Given the description of an element on the screen output the (x, y) to click on. 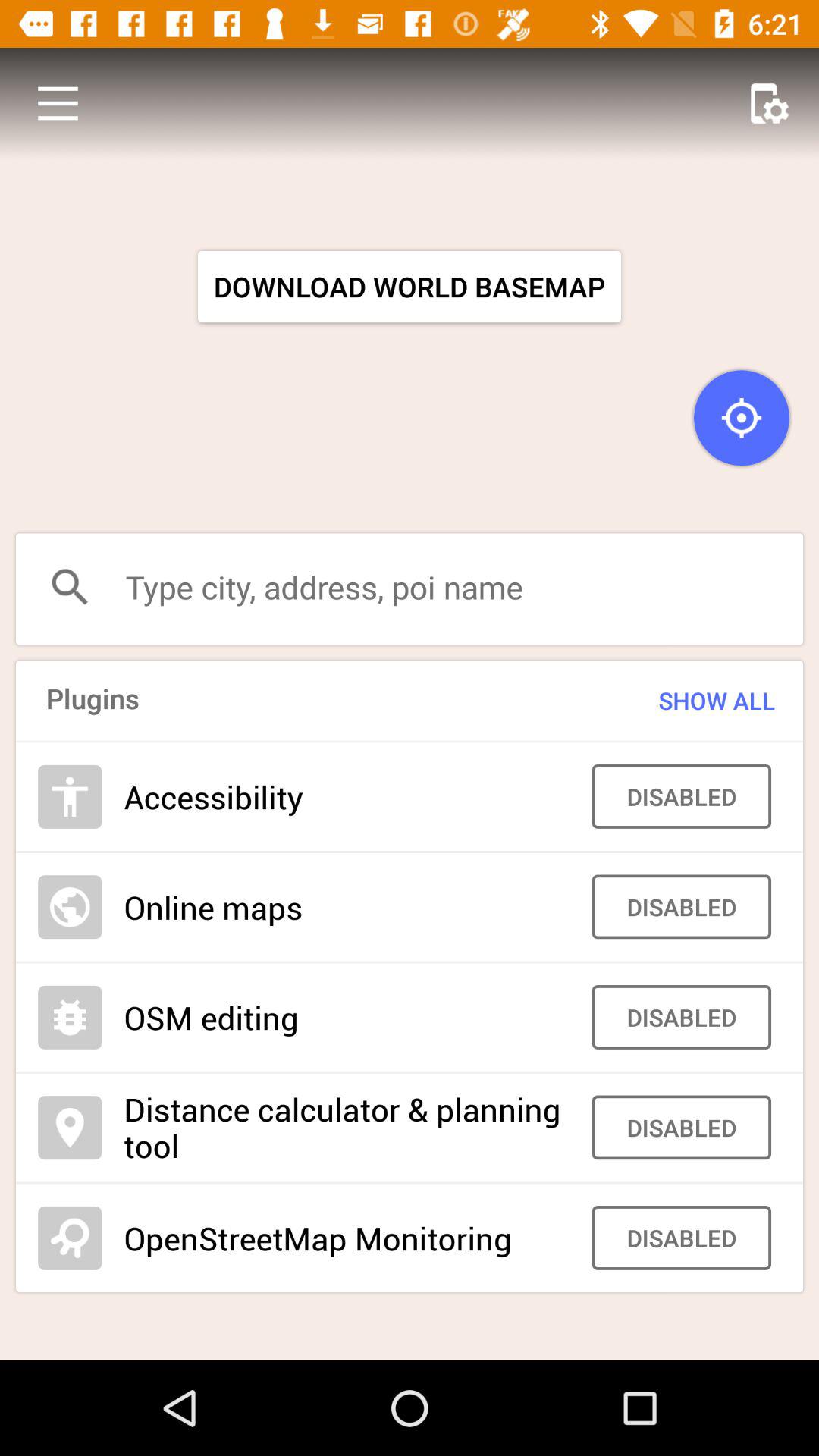
turn on download world basemap icon (409, 286)
